Given the description of an element on the screen output the (x, y) to click on. 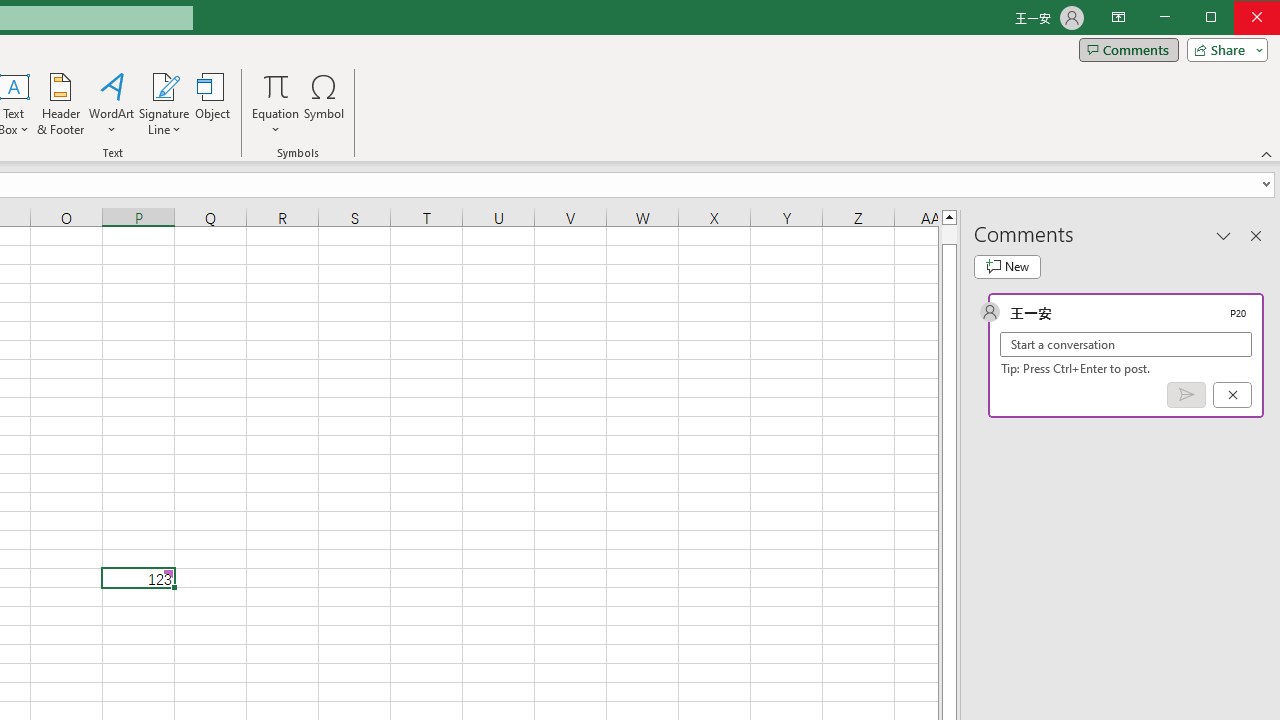
Post comment (Ctrl + Enter) (1186, 395)
New comment (1007, 266)
Page up (948, 234)
Symbol... (324, 104)
Header & Footer... (60, 104)
Signature Line (164, 86)
WordArt (111, 104)
Cancel (1232, 395)
